Given the description of an element on the screen output the (x, y) to click on. 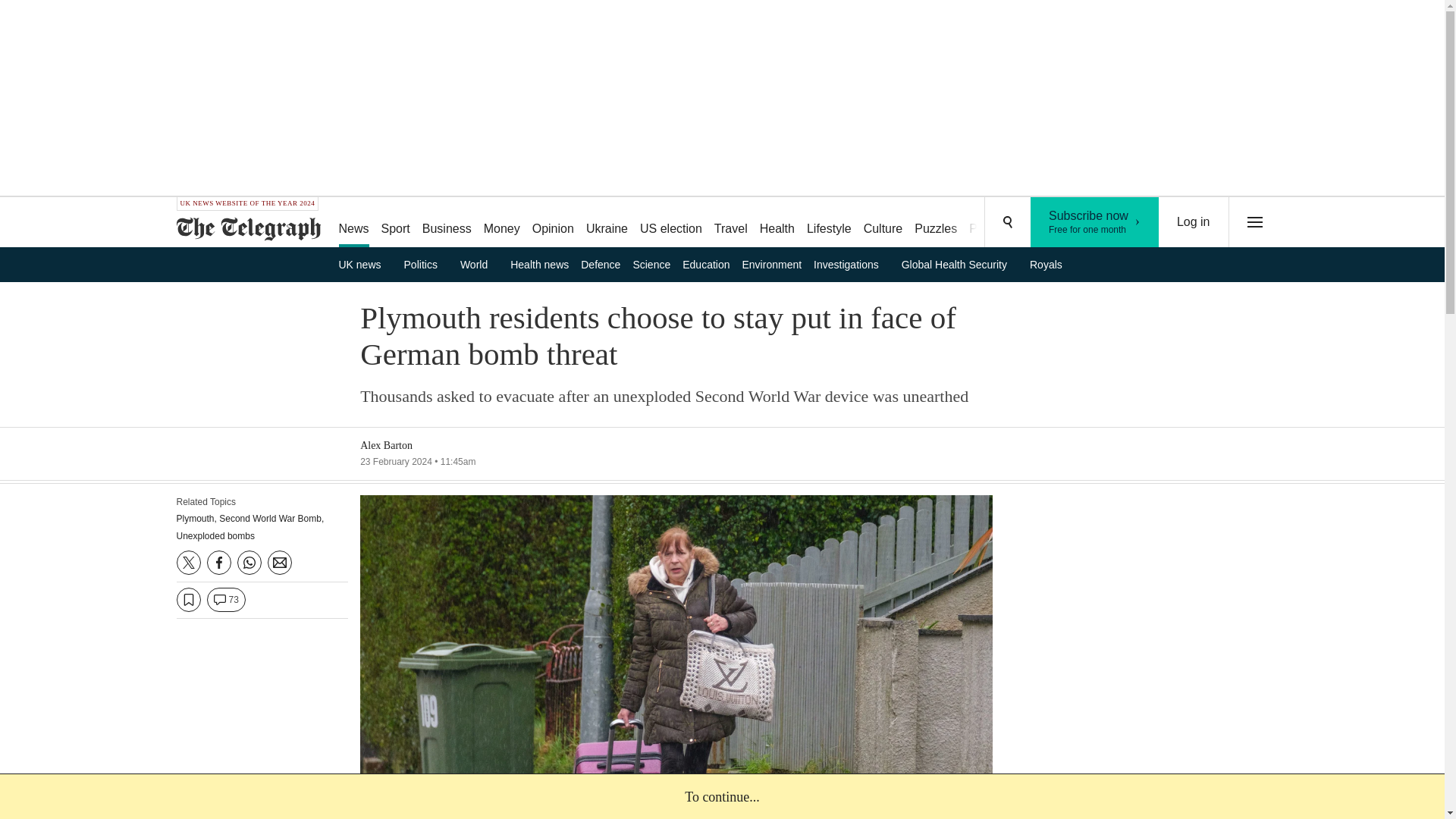
World (478, 264)
Puzzles (935, 223)
Money (501, 223)
Podcasts (993, 223)
Culture (882, 223)
Travel (730, 223)
UK news (364, 264)
Health (777, 223)
Business (446, 223)
Politics (425, 264)
